Given the description of an element on the screen output the (x, y) to click on. 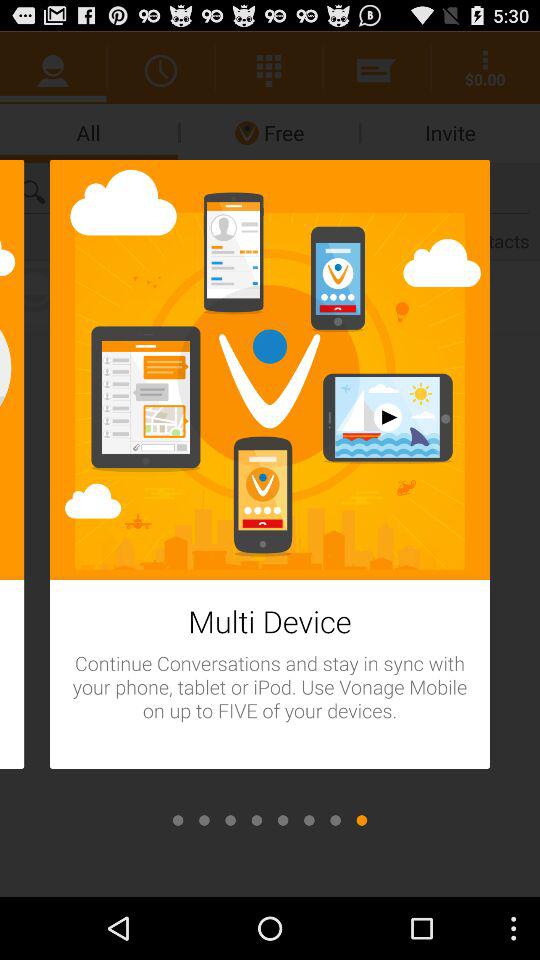
go to the next page (283, 820)
